Given the description of an element on the screen output the (x, y) to click on. 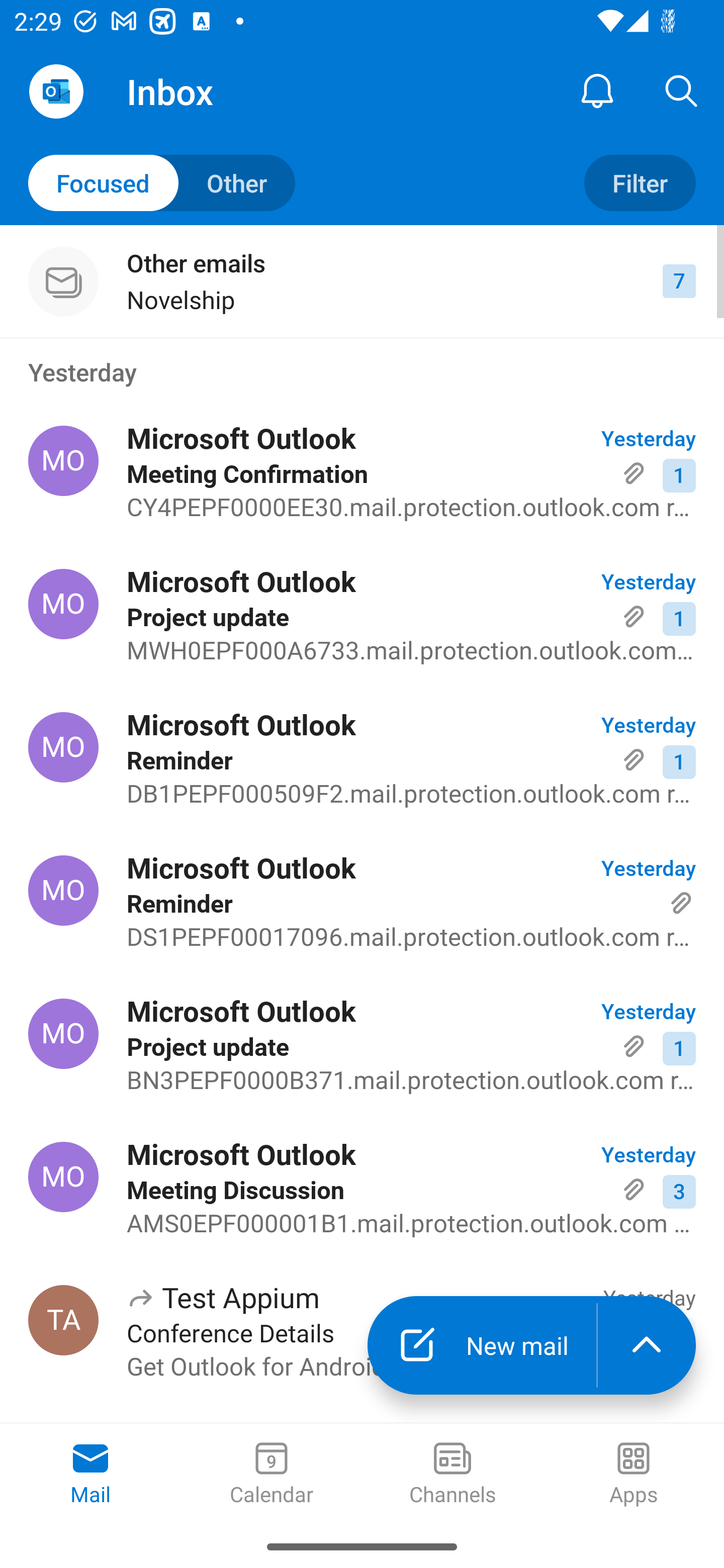
Notification Center (597, 90)
Search, ,  (681, 90)
Open Navigation Drawer (55, 91)
Toggle to other mails (161, 183)
Filter (639, 183)
Other emails Novelship 7 (362, 281)
Test Appium, testappium002@outlook.com (63, 1319)
